Given the description of an element on the screen output the (x, y) to click on. 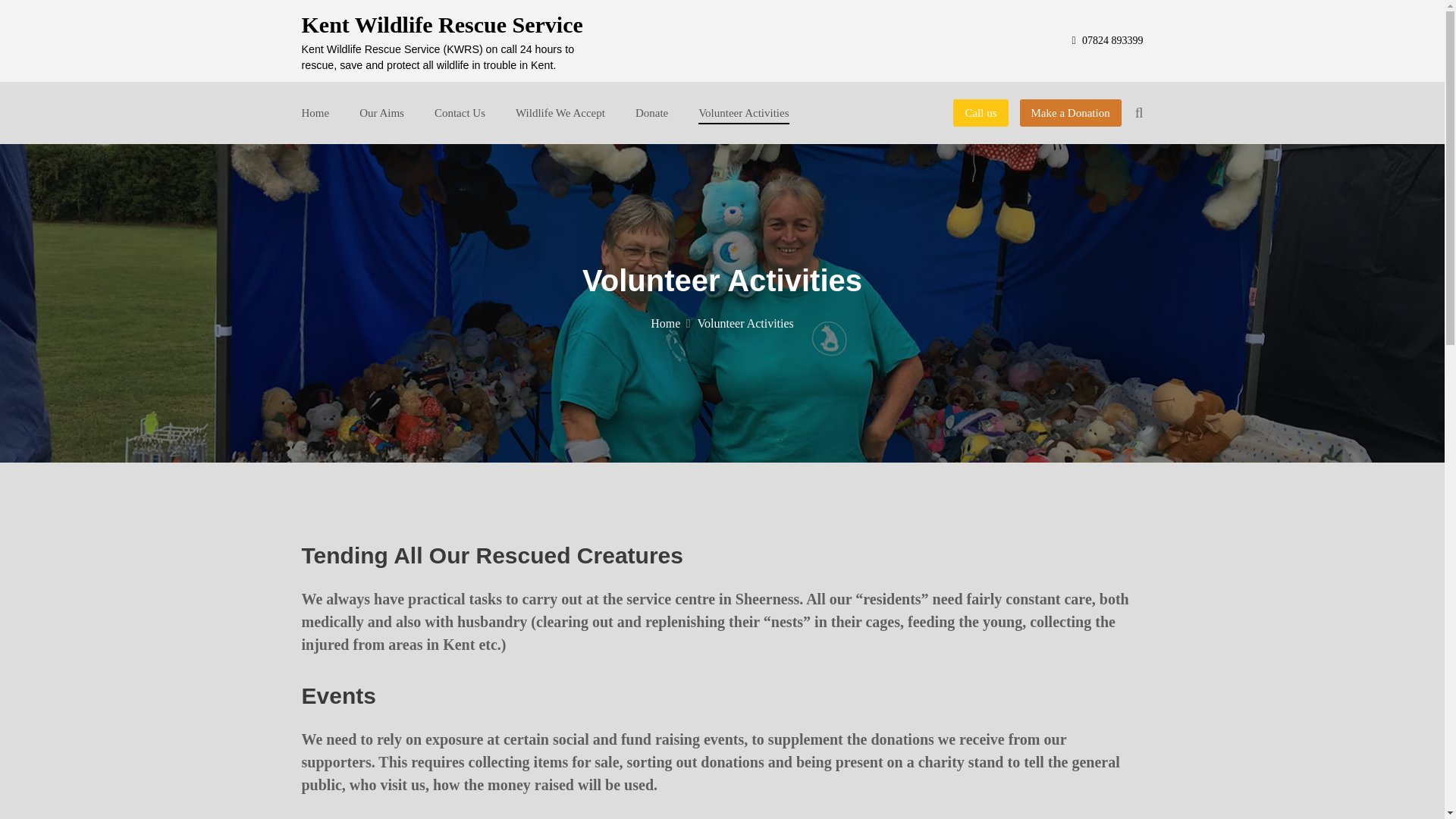
Home (670, 323)
Contact Us (458, 112)
Home (315, 112)
Wildlife We Accept (560, 112)
Kent Wildlife Rescue Service (442, 24)
Our Aims (381, 112)
Call us (980, 113)
07824 893399 (1106, 40)
Volunteer Activities (743, 112)
Donate (651, 112)
